Given the description of an element on the screen output the (x, y) to click on. 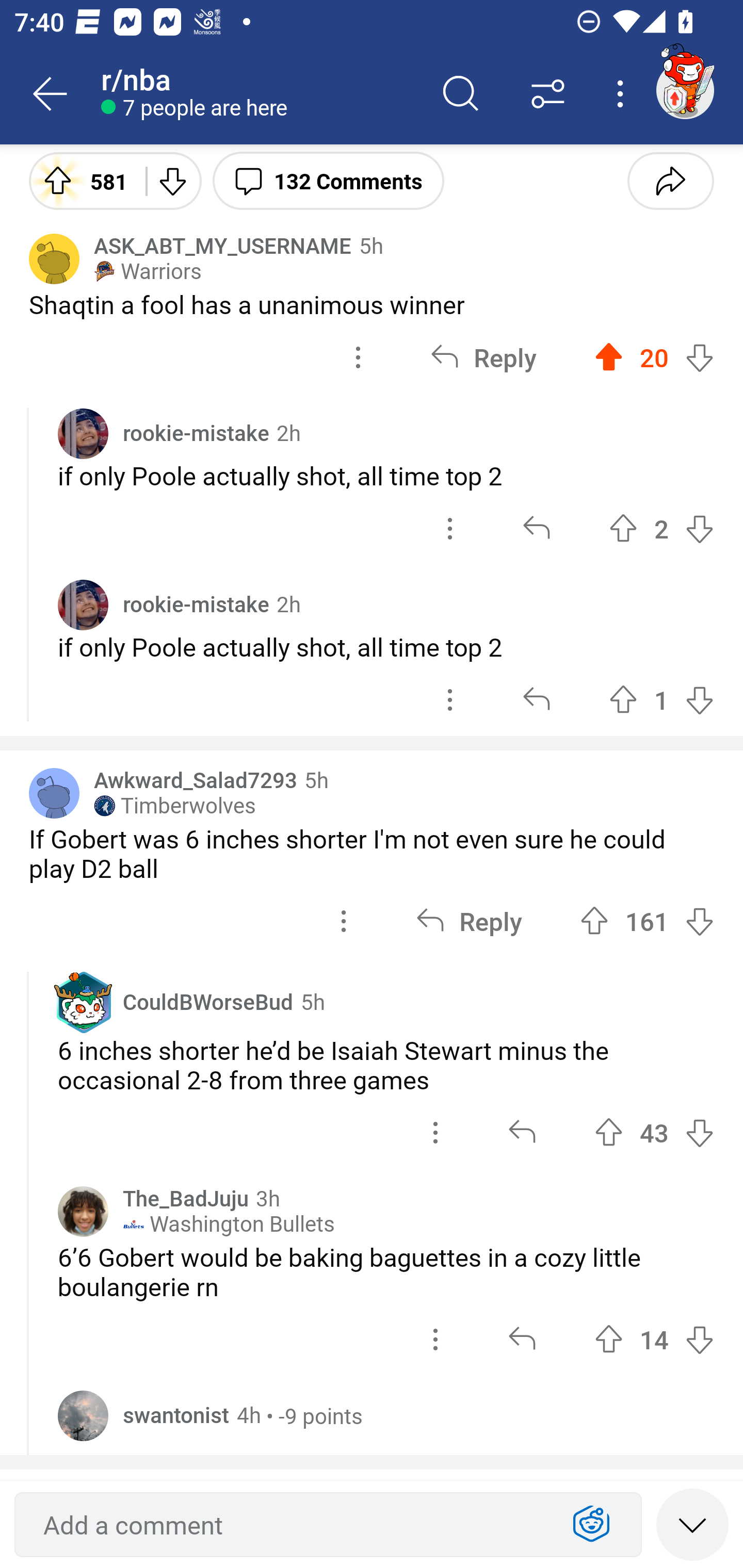
Back (50, 93)
TestAppium002 account (685, 90)
Search comments (460, 93)
Sort comments (547, 93)
More options (623, 93)
r/nba 7 people are here (259, 93)
Upvote 581 (79, 180)
Downvote (171, 180)
132 Comments (328, 180)
Share (670, 180)
Avatar (53, 258)
￼ Warriors (147, 270)
Shaqtin a fool has a unanimous winner (371, 303)
options (358, 357)
Reply (483, 357)
Upvote 20 20 votes Downvote (654, 357)
Avatar (82, 433)
if only Poole actually shot, all time top 2 (385, 474)
options (449, 528)
Upvote 2 2 votes Downvote (661, 528)
Avatar (82, 605)
if only Poole actually shot, all time top 2 (385, 646)
options (449, 699)
Upvote 1 1 vote Downvote (661, 699)
Avatar (53, 793)
￼ Timberwolves (174, 805)
options (343, 921)
Reply (469, 921)
Upvote 161 161 votes Downvote (647, 921)
options (435, 1132)
Upvote 43 43 votes Downvote (654, 1132)
Avatar (82, 1211)
￼ Washington Bullets (228, 1224)
options (435, 1339)
Upvote 14 14 votes Downvote (654, 1339)
Avatar (82, 1415)
Speed read (692, 1524)
Add a comment (291, 1524)
Show Expressions (590, 1524)
